Given the description of an element on the screen output the (x, y) to click on. 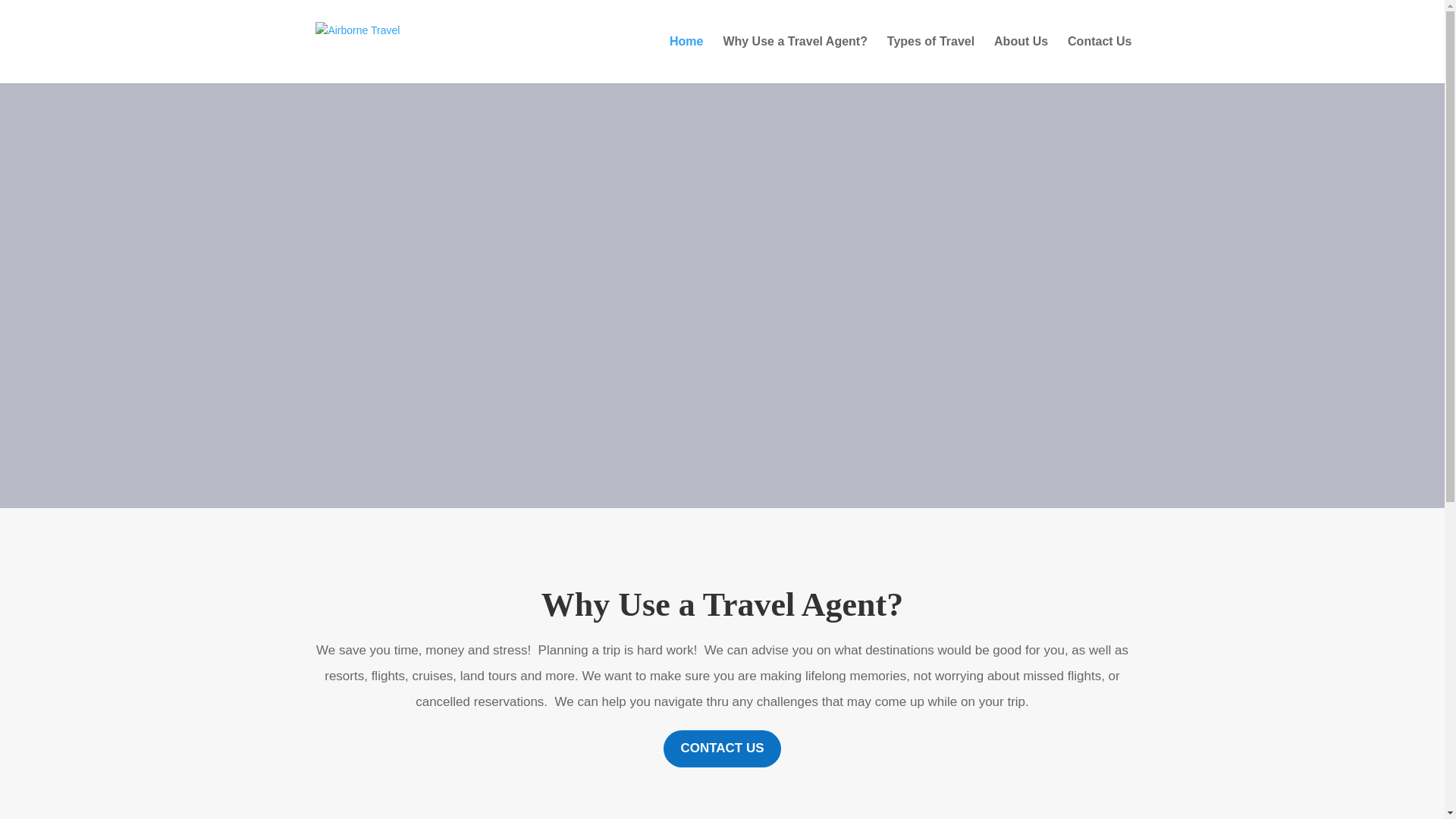
About Us (1021, 59)
Why Use a Travel Agent? (794, 59)
Types of Travel (930, 59)
Home (686, 59)
CONTACT US (721, 748)
Contact Us (1099, 59)
